Given the description of an element on the screen output the (x, y) to click on. 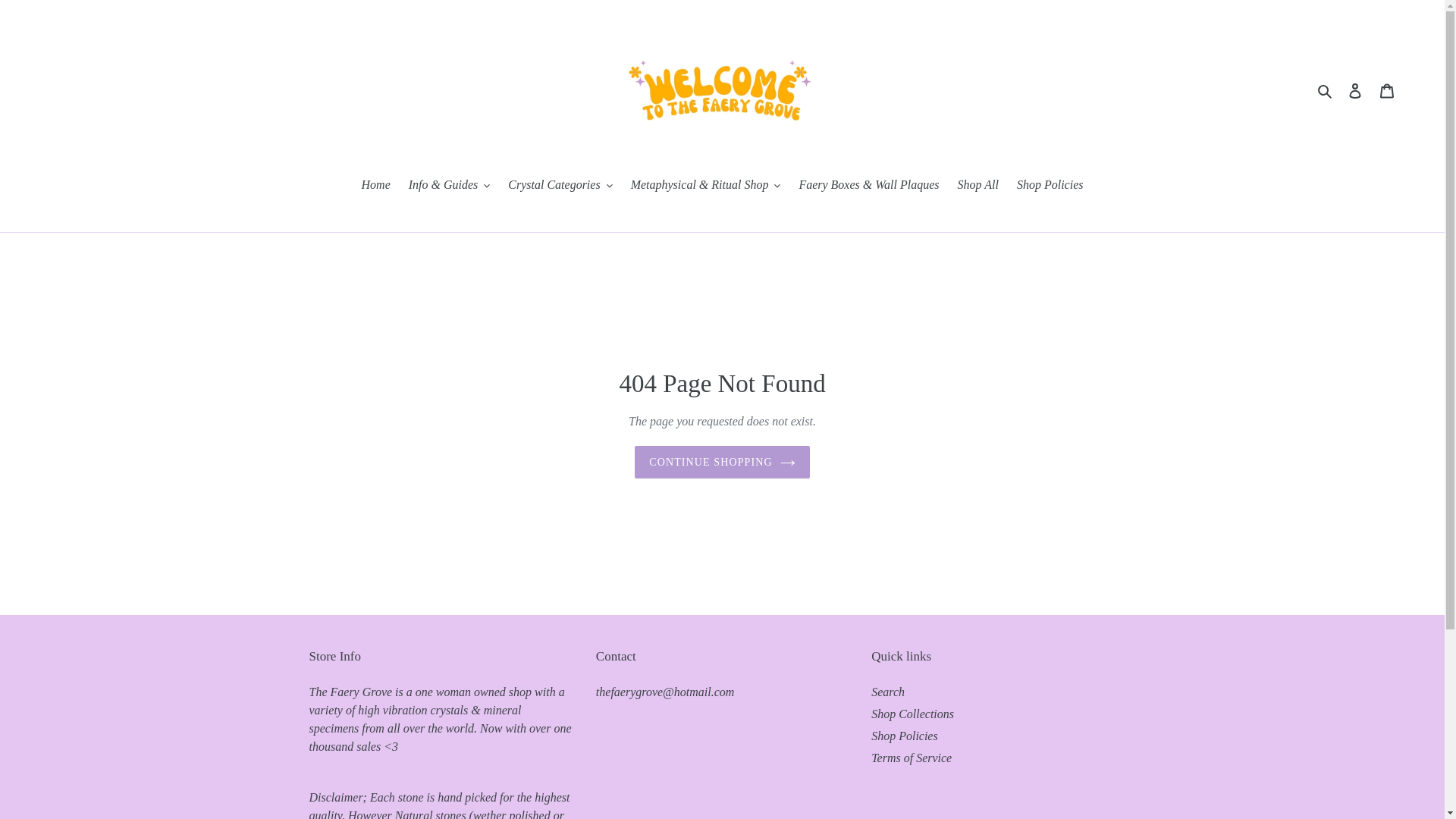
Log in (1355, 89)
Search (1326, 89)
Cart (1387, 89)
